Given the description of an element on the screen output the (x, y) to click on. 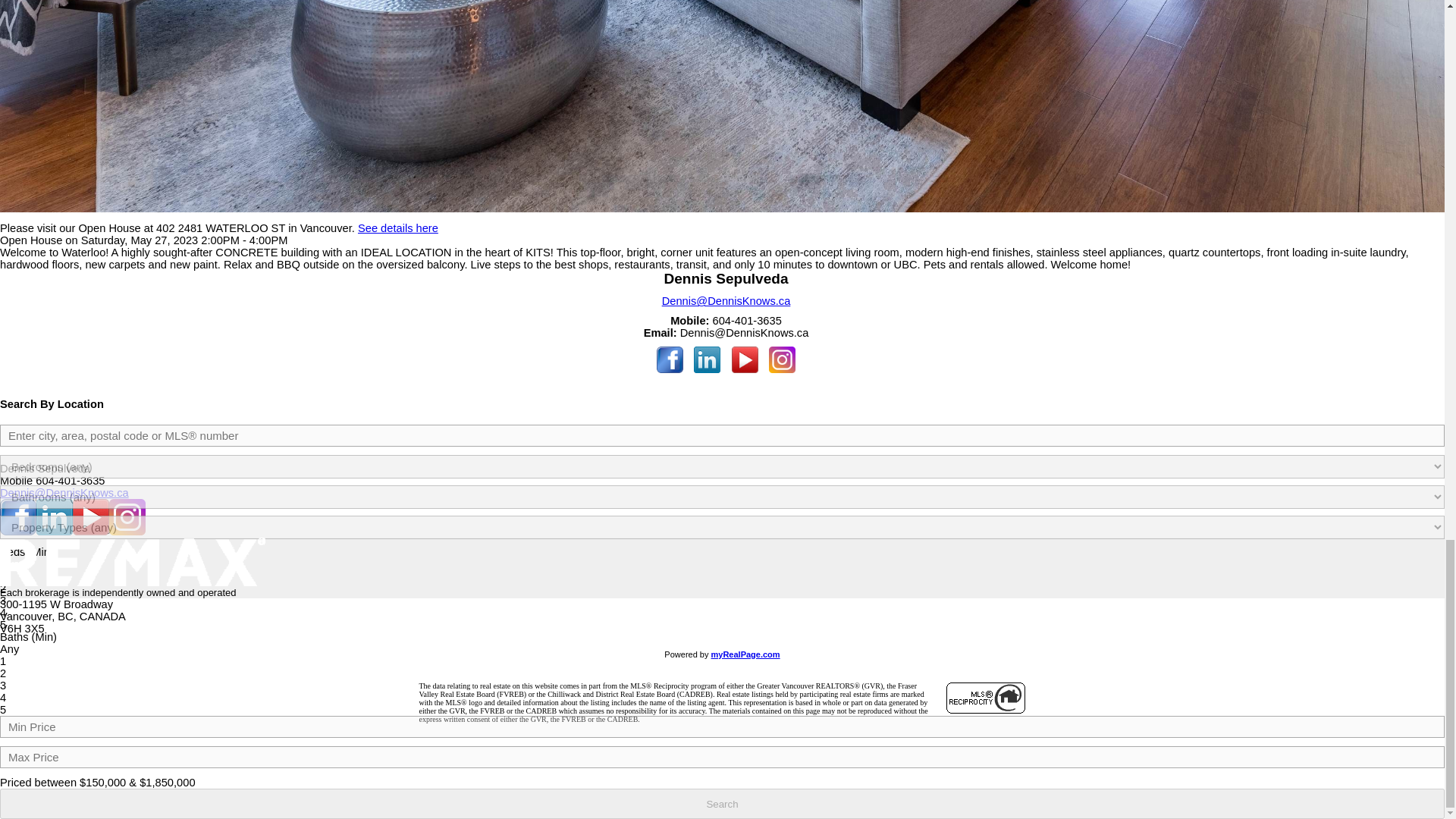
See details here (398, 227)
